Given the description of an element on the screen output the (x, y) to click on. 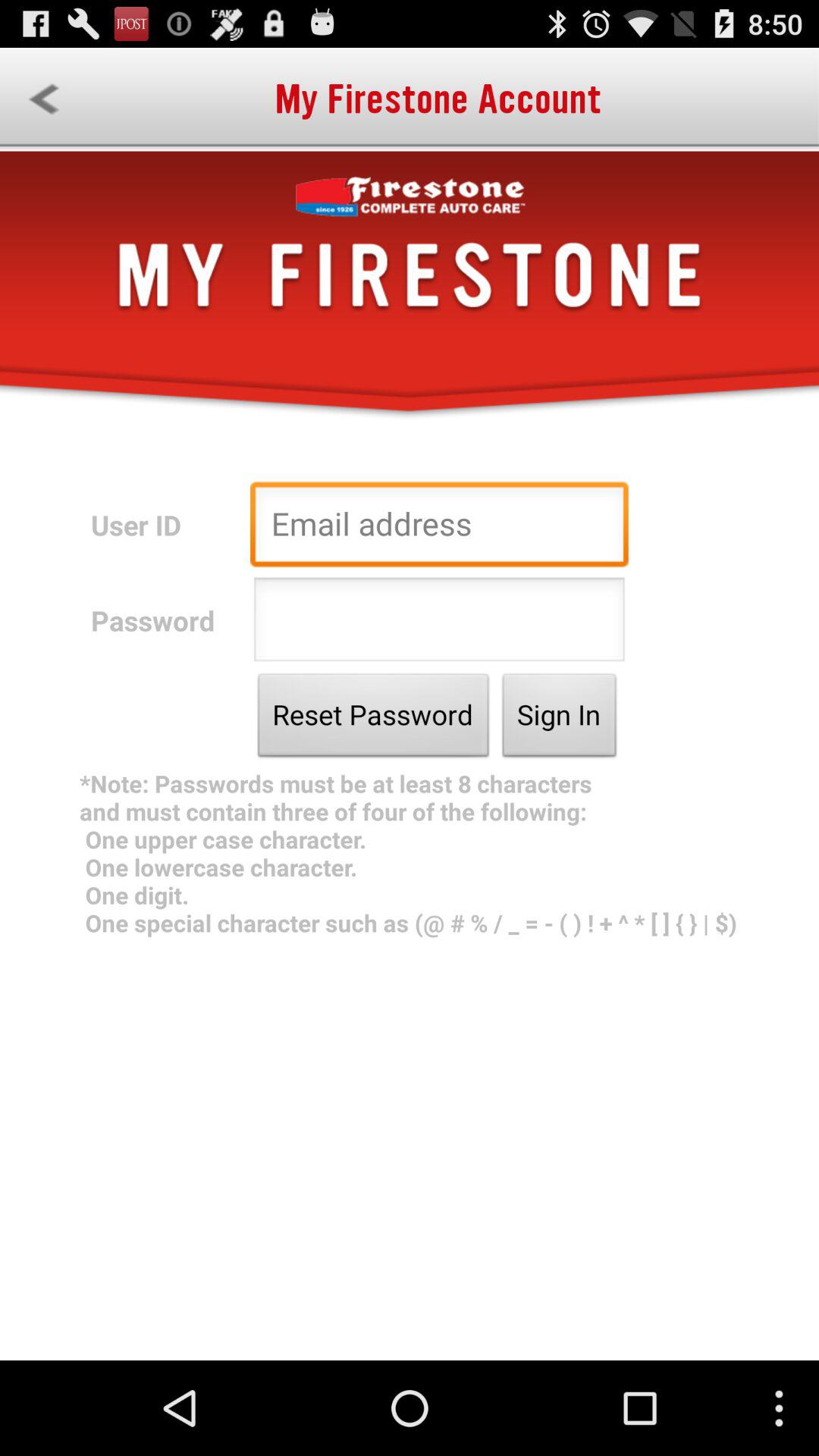
launch item to the left of the sign in (373, 719)
